Given the description of an element on the screen output the (x, y) to click on. 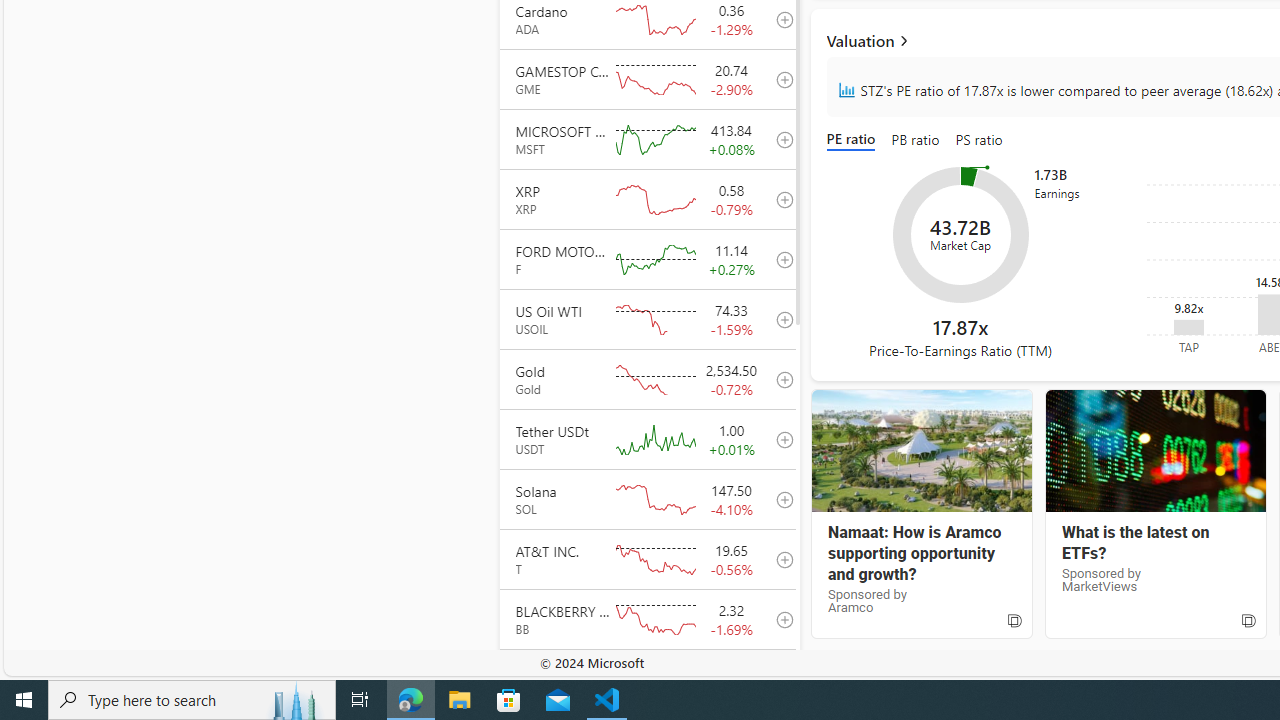
add to your watchlist (779, 678)
Aramco (921, 451)
